Given the description of an element on the screen output the (x, y) to click on. 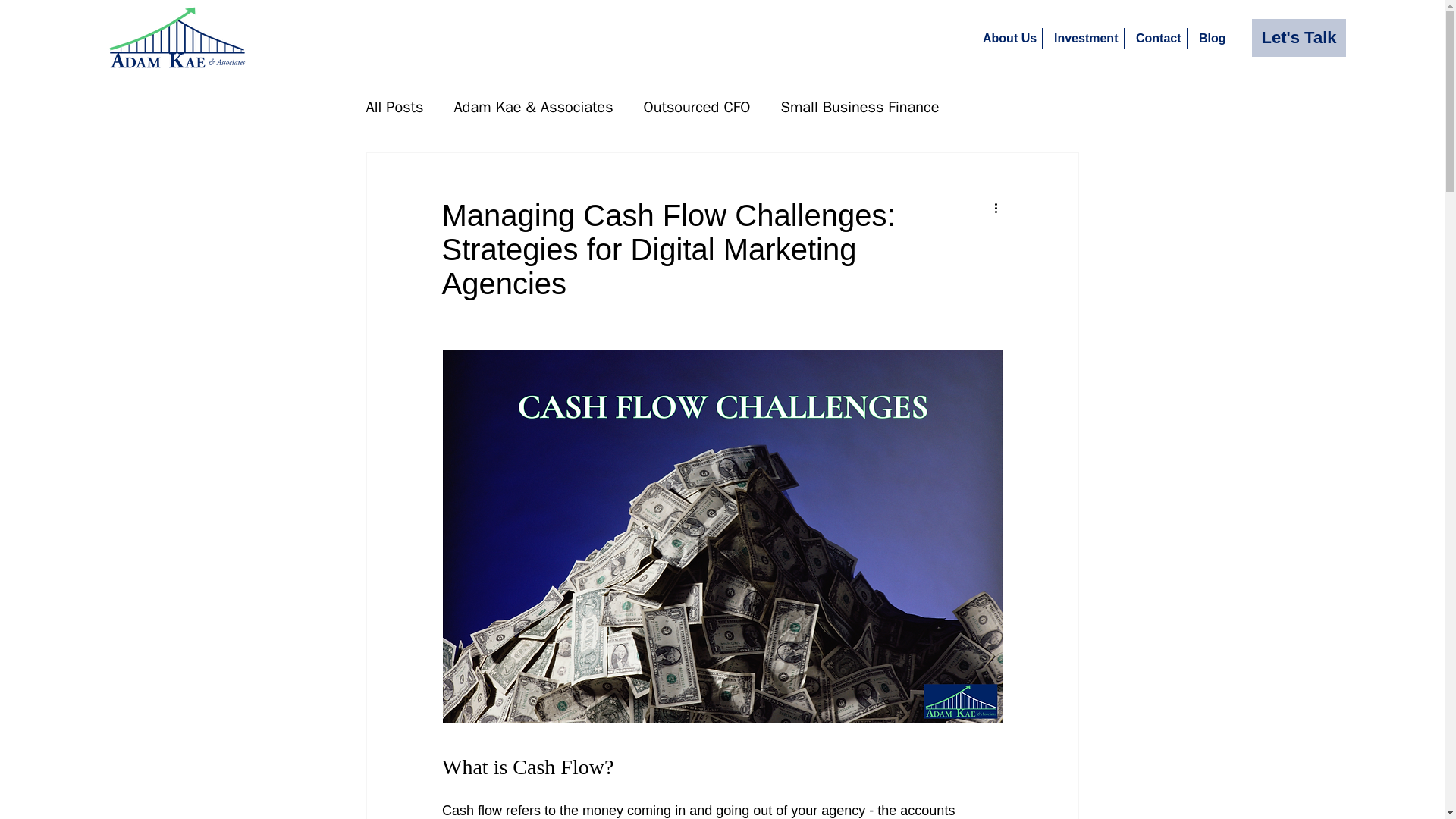
Blog (1209, 37)
Small Business Finance (859, 107)
All Posts (394, 107)
Let's Talk (1298, 37)
Contact (1155, 37)
Outsourced CFO (697, 107)
